Given the description of an element on the screen output the (x, y) to click on. 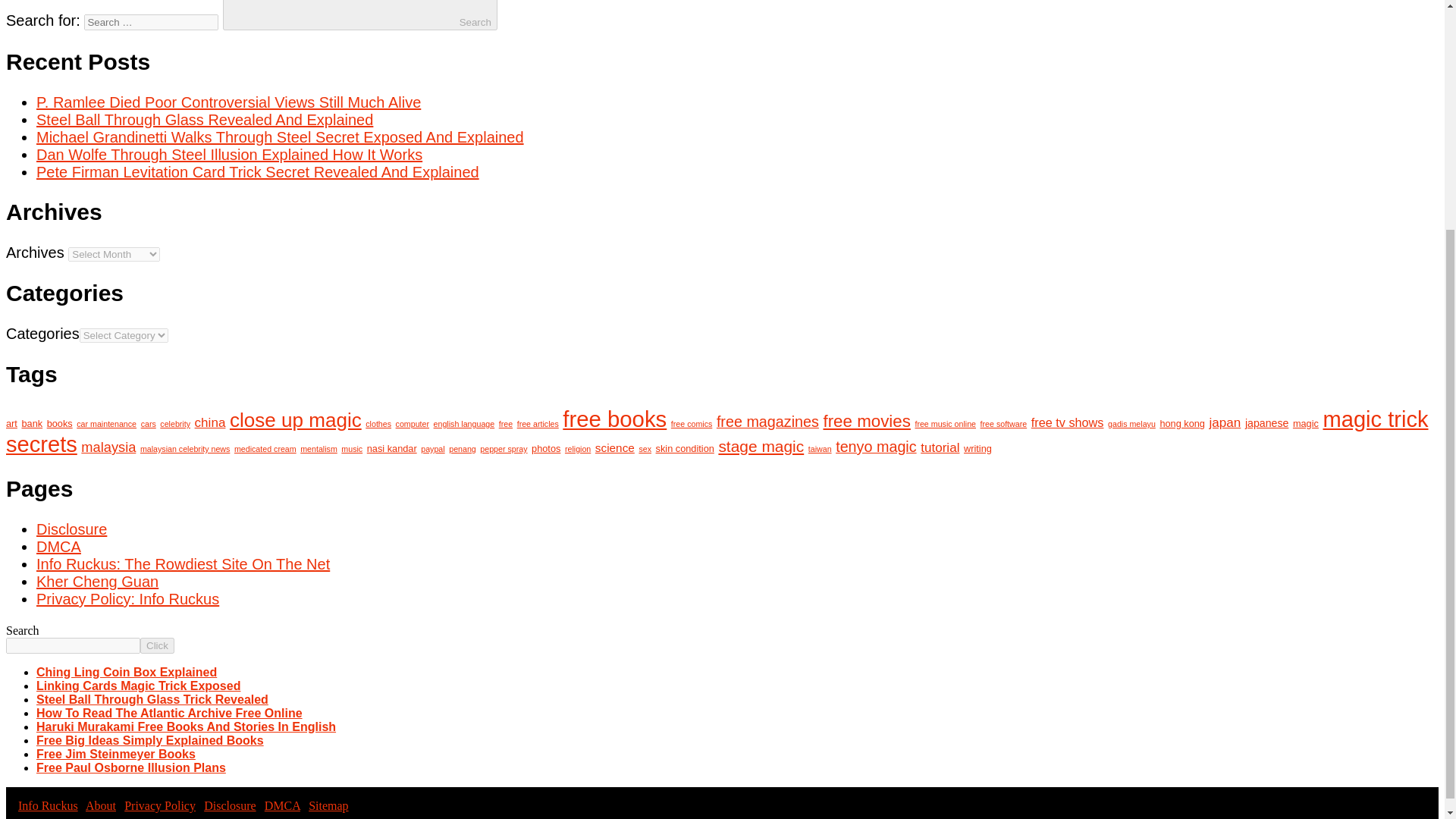
Steel Ball Through Glass Revealed And Explained (204, 119)
free books (614, 418)
close up magic (295, 419)
free software (1003, 423)
free articles (537, 423)
gadis melayu (1132, 423)
china (210, 422)
Search for: (151, 22)
books (59, 423)
magic trick secrets (716, 431)
free music online (944, 423)
japanese (1266, 422)
Dan Wolfe Through Steel Illusion Explained How It Works (229, 154)
magic (1305, 423)
japan (1225, 422)
